Given the description of an element on the screen output the (x, y) to click on. 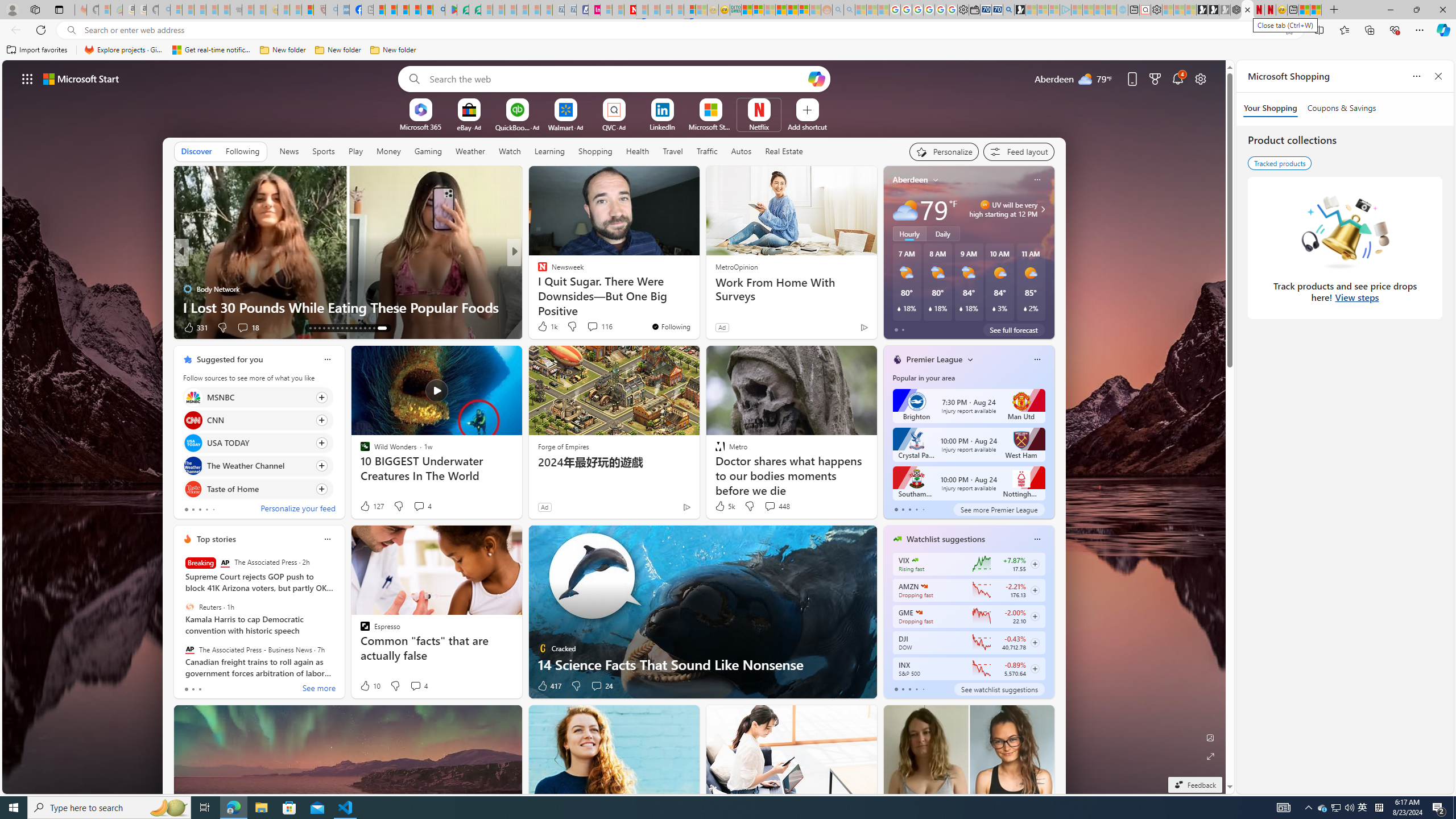
CBOE Market Volatility Index (914, 559)
The Associated Press - Business News (189, 649)
View comments 18 Comment (241, 327)
Click to follow source The Weather Channel (257, 465)
Search icon (70, 29)
next (1047, 252)
View comments 116 Comment (599, 326)
